Given the description of an element on the screen output the (x, y) to click on. 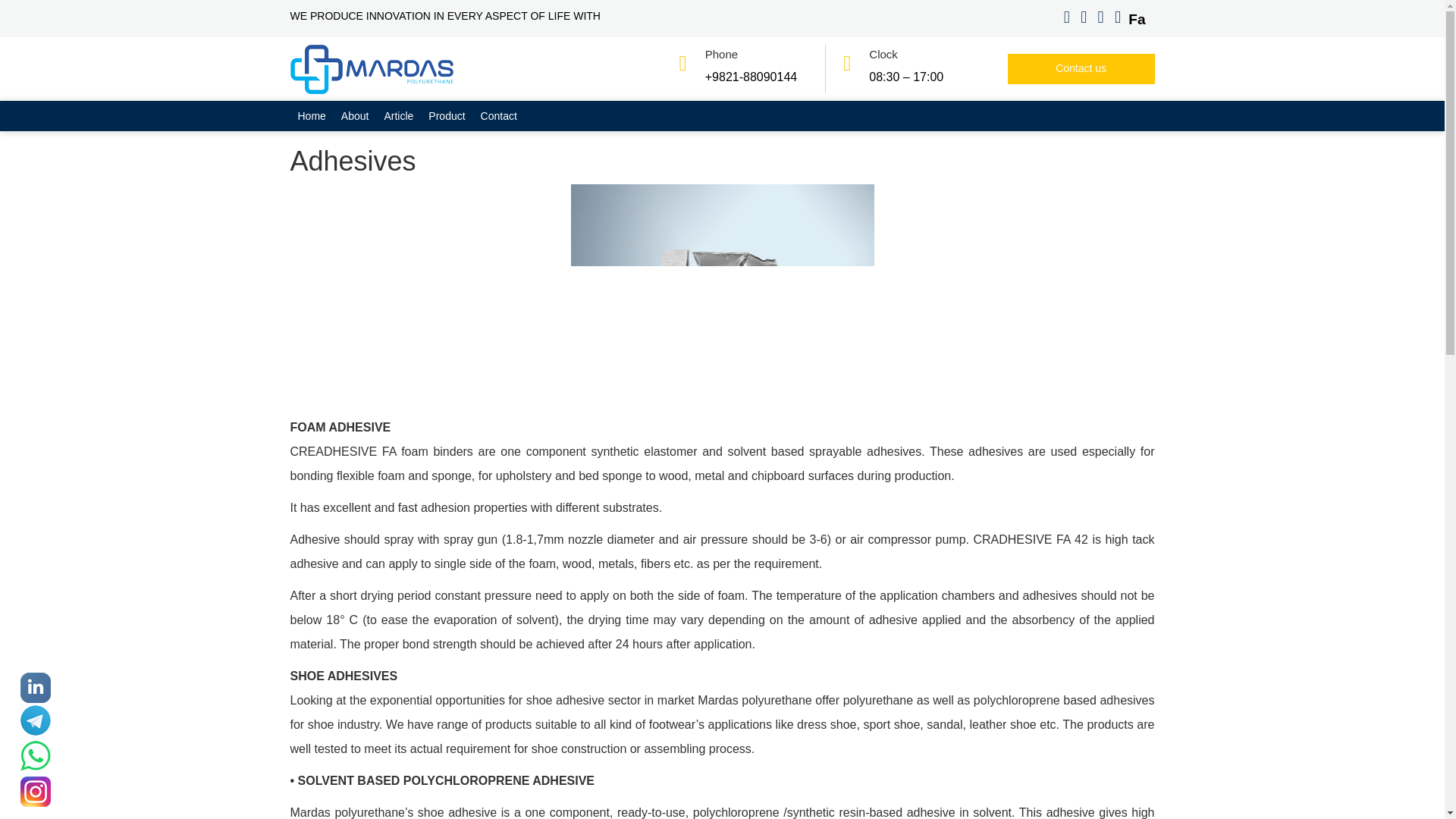
Contact (498, 115)
Product (445, 115)
Home (311, 115)
About (355, 115)
Fa (1136, 19)
Fa (1136, 19)
Contact us (1080, 69)
Article (397, 115)
